Given the description of an element on the screen output the (x, y) to click on. 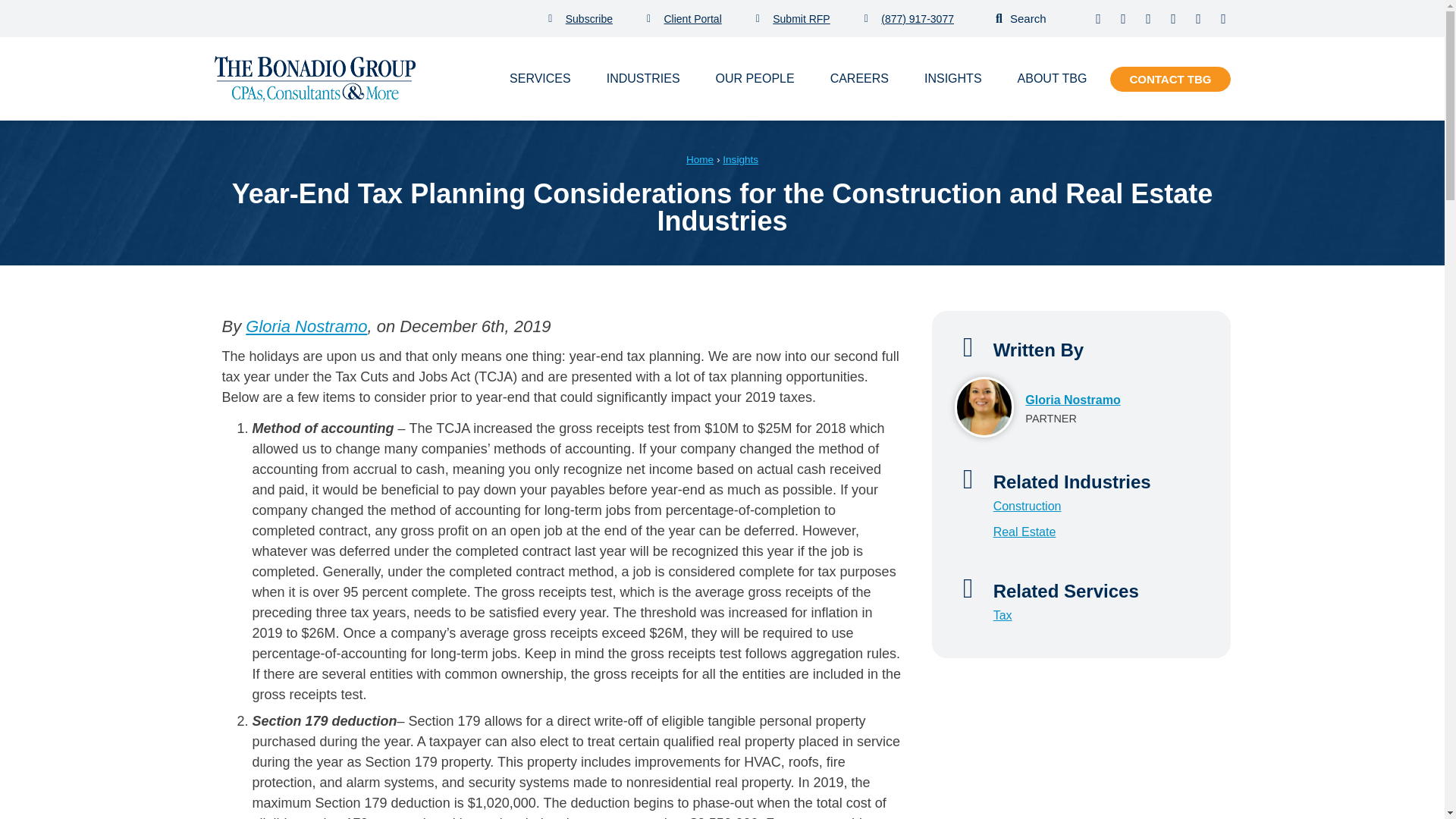
SERVICES (539, 78)
Client Portal (684, 18)
INDUSTRIES (643, 78)
Submit RFP (792, 18)
Subscribe (580, 18)
